Given the description of an element on the screen output the (x, y) to click on. 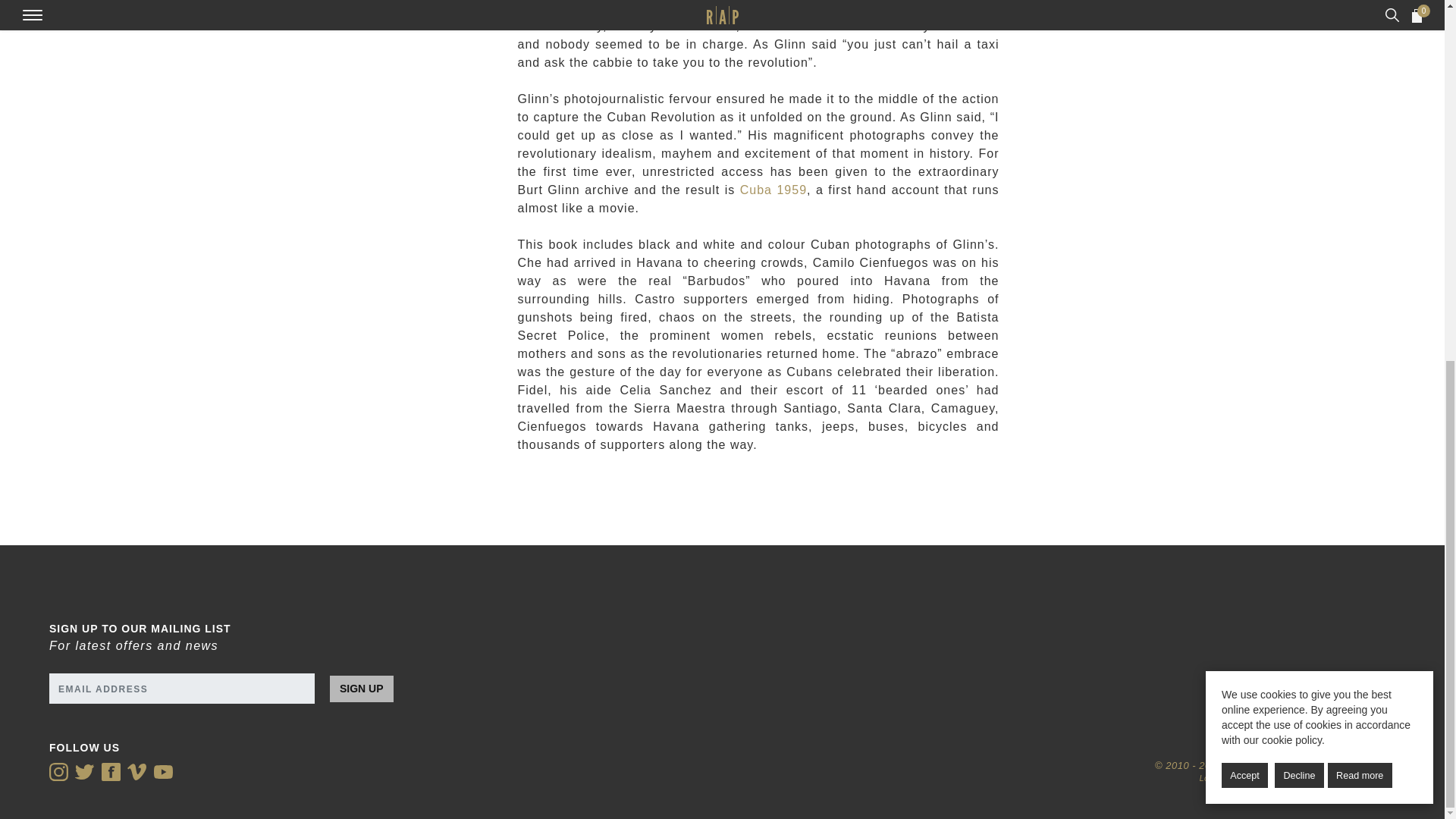
Cuba 1959 (772, 189)
Decline (1299, 133)
Read more (1359, 133)
CONTACT US (1064, 700)
Read more (1359, 133)
TERMS AND CONDITIONS (1064, 731)
Accept (1244, 133)
SIGN UP (361, 687)
Reel art Press. (1348, 777)
London Web Designers (1267, 765)
PRIVACY POLICY (1243, 777)
